Given the description of an element on the screen output the (x, y) to click on. 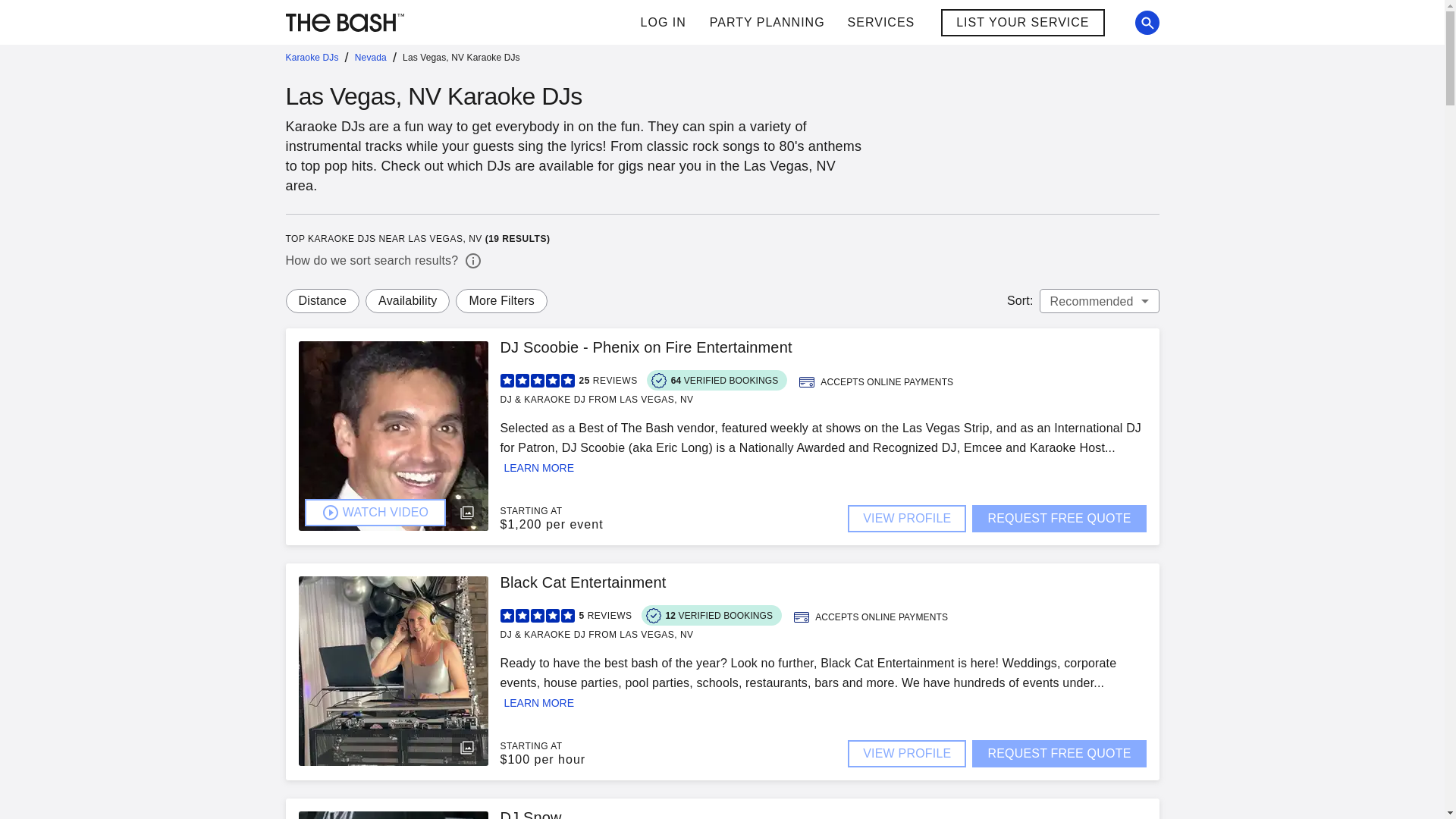
LIST YOUR SERVICE (1021, 22)
LOG IN (662, 22)
